Given the description of an element on the screen output the (x, y) to click on. 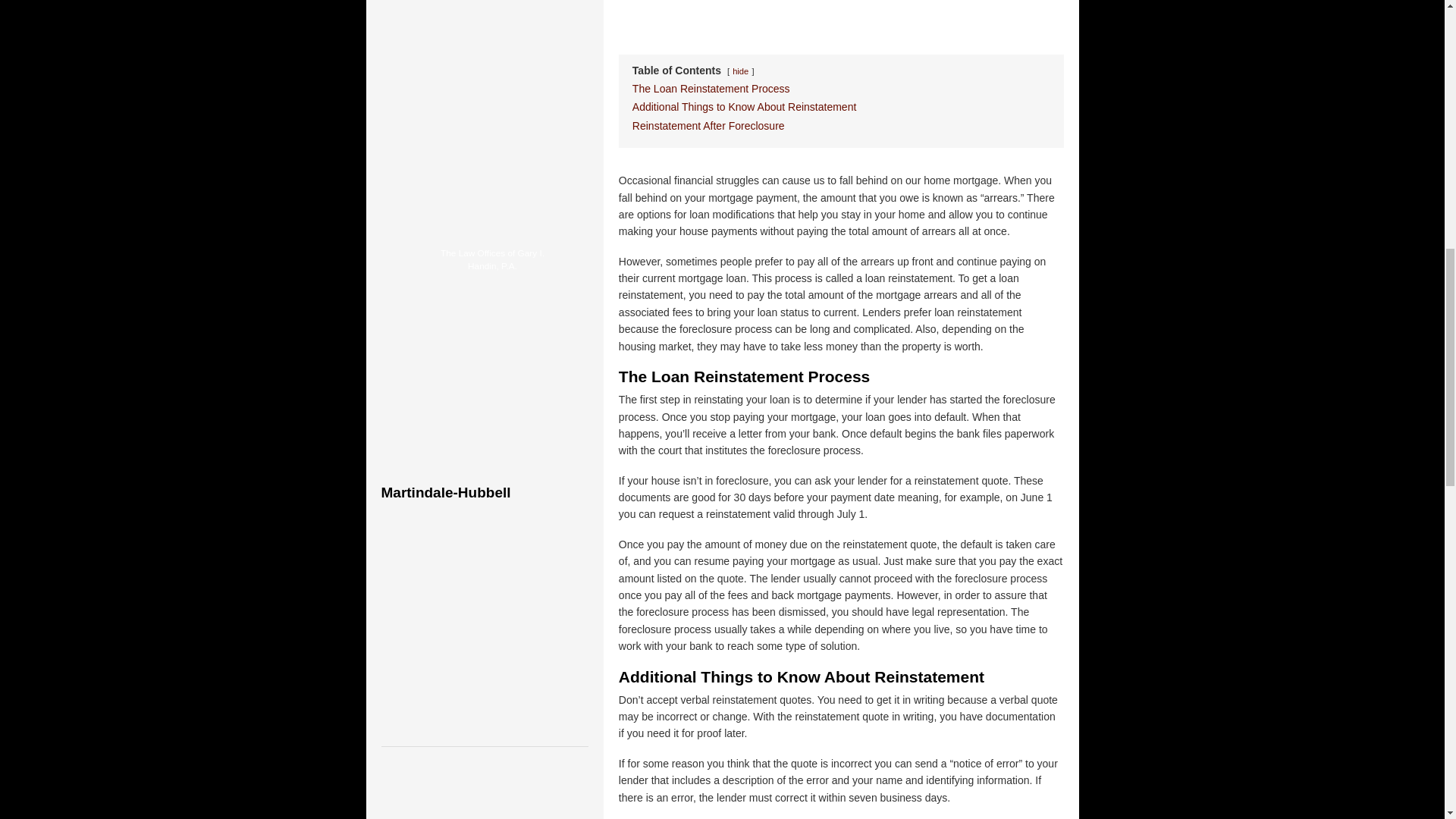
The Law Offices of Gary I. Handin, P.A. (491, 259)
LOC8NEARME (496, 217)
